Given the description of an element on the screen output the (x, y) to click on. 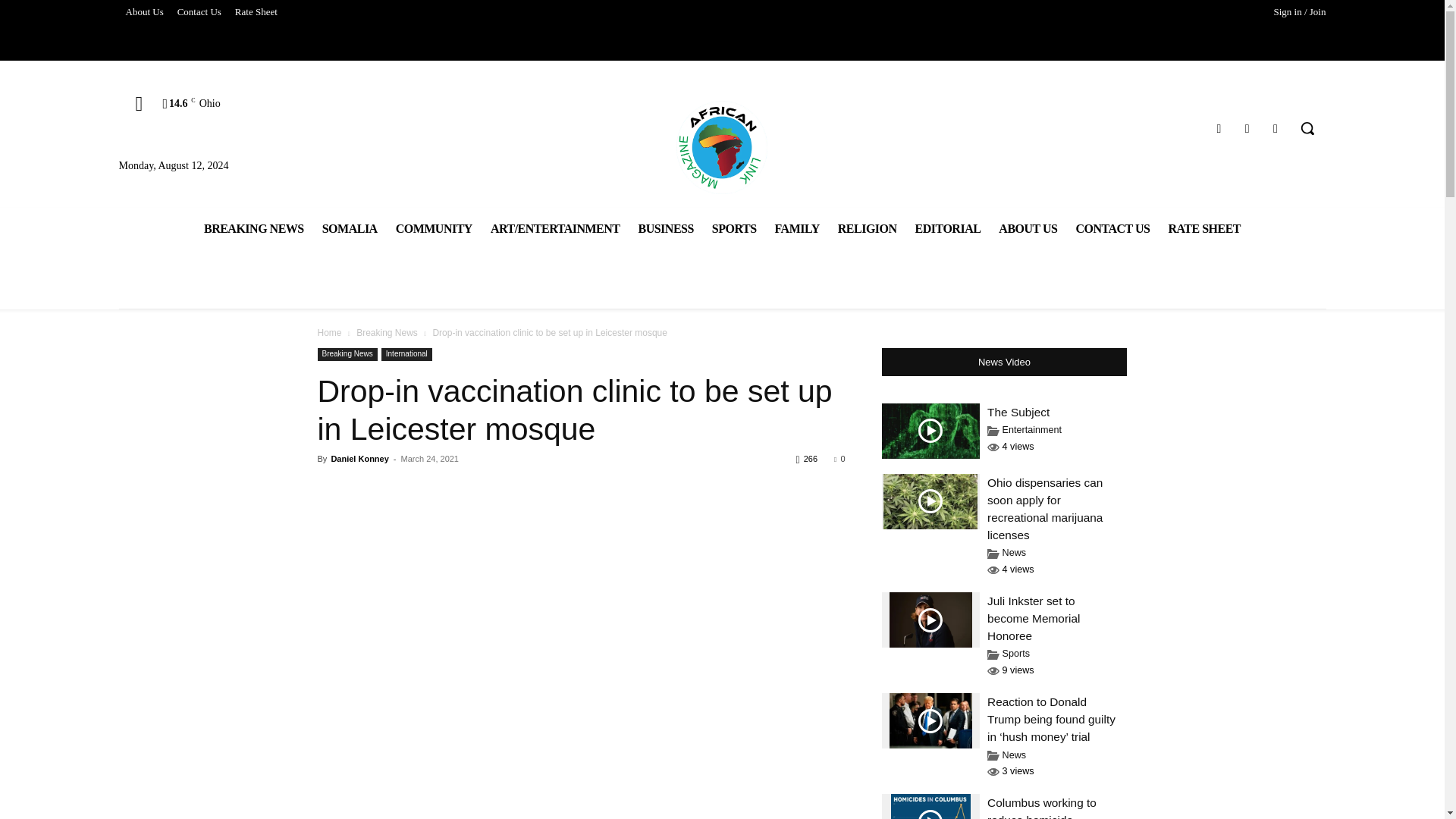
Twitter (1246, 127)
African Link Magazine (722, 146)
View all posts in Breaking News (386, 332)
African Link Magazine (721, 146)
Facebook (1218, 127)
Youtube (1275, 127)
